Given the description of an element on the screen output the (x, y) to click on. 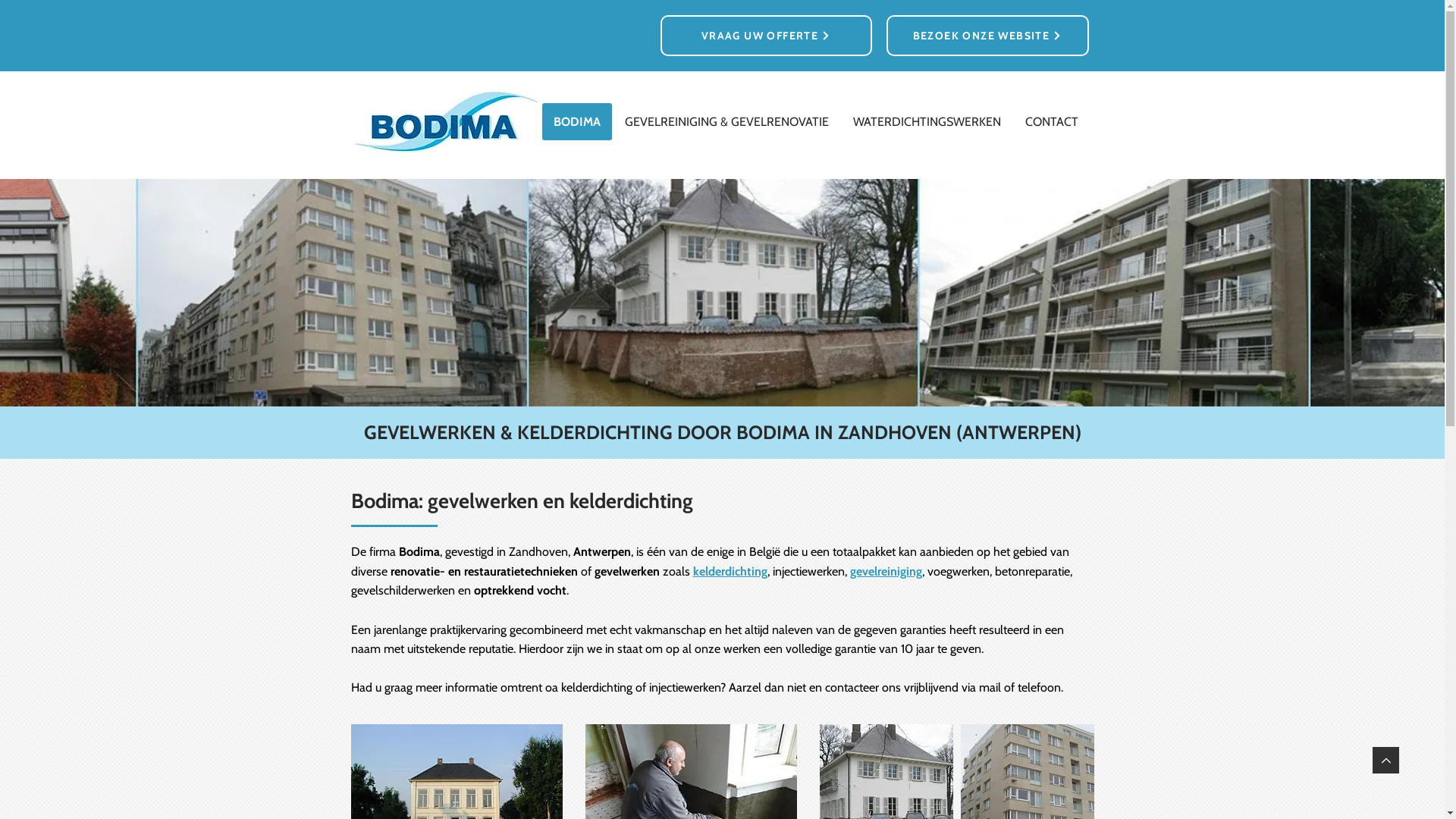
BODIMA Element type: text (576, 121)
GEVELREINIGING & GEVELRENOVATIE Element type: text (725, 121)
kelderdichting Element type: text (730, 571)
CONTACT Element type: text (1050, 121)
WATERDICHTINGSWERKEN Element type: text (926, 121)
VRAAG UW OFFERTE Element type: text (765, 35)
BEZOEK ONZE WEBSITE Element type: text (986, 35)
gevelreiniging Element type: text (885, 571)
